Given the description of an element on the screen output the (x, y) to click on. 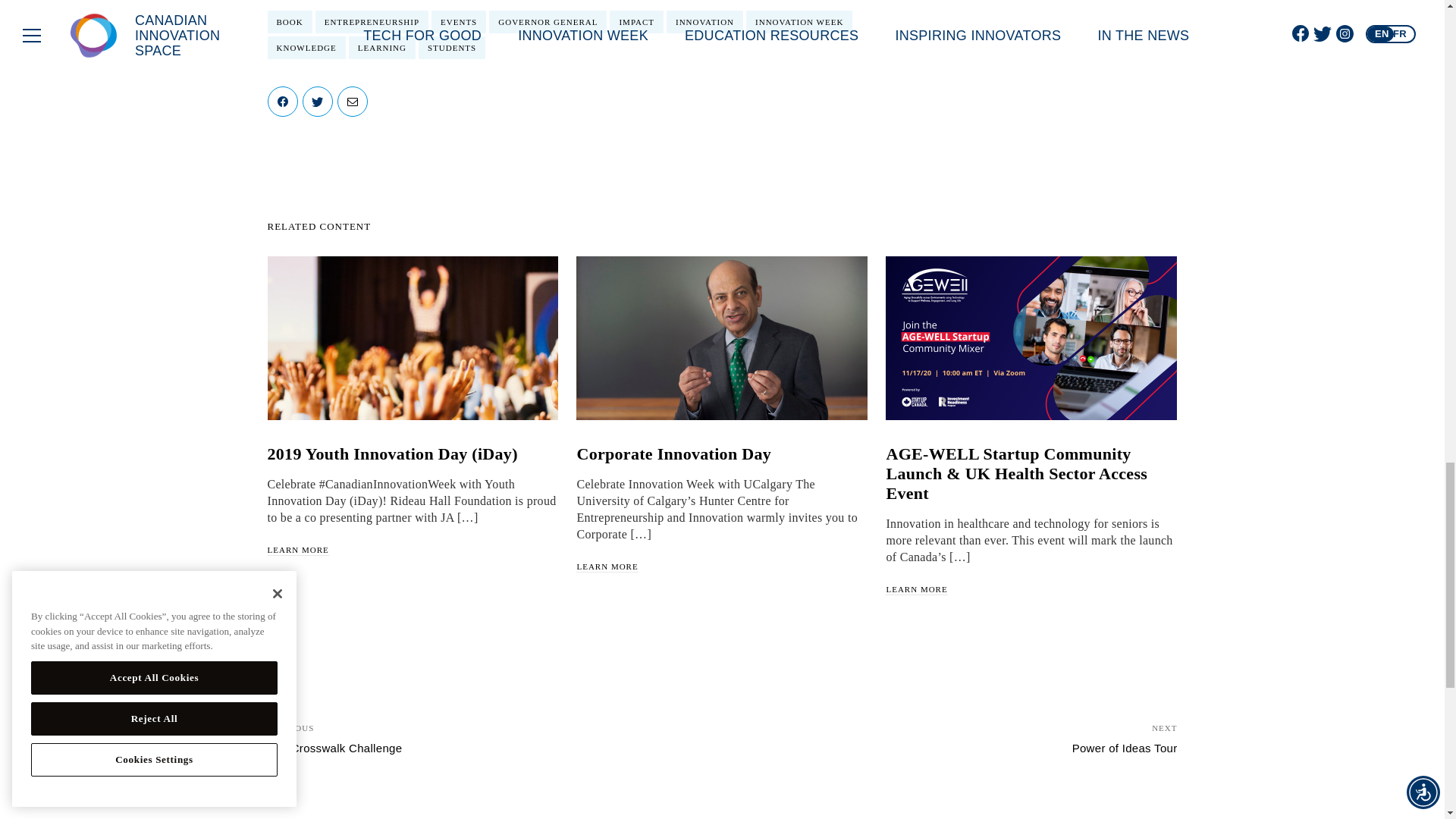
INNOVATION WEEK (798, 21)
STUDENTS (451, 47)
ENTREPRENEURSHIP (371, 21)
GOVERNOR GENERAL (548, 21)
INNOVATION (704, 21)
IMPACT (636, 21)
EVENTS (458, 21)
KNOWLEDGE (305, 47)
BOOK (288, 21)
LEARNING (381, 47)
